Given the description of an element on the screen output the (x, y) to click on. 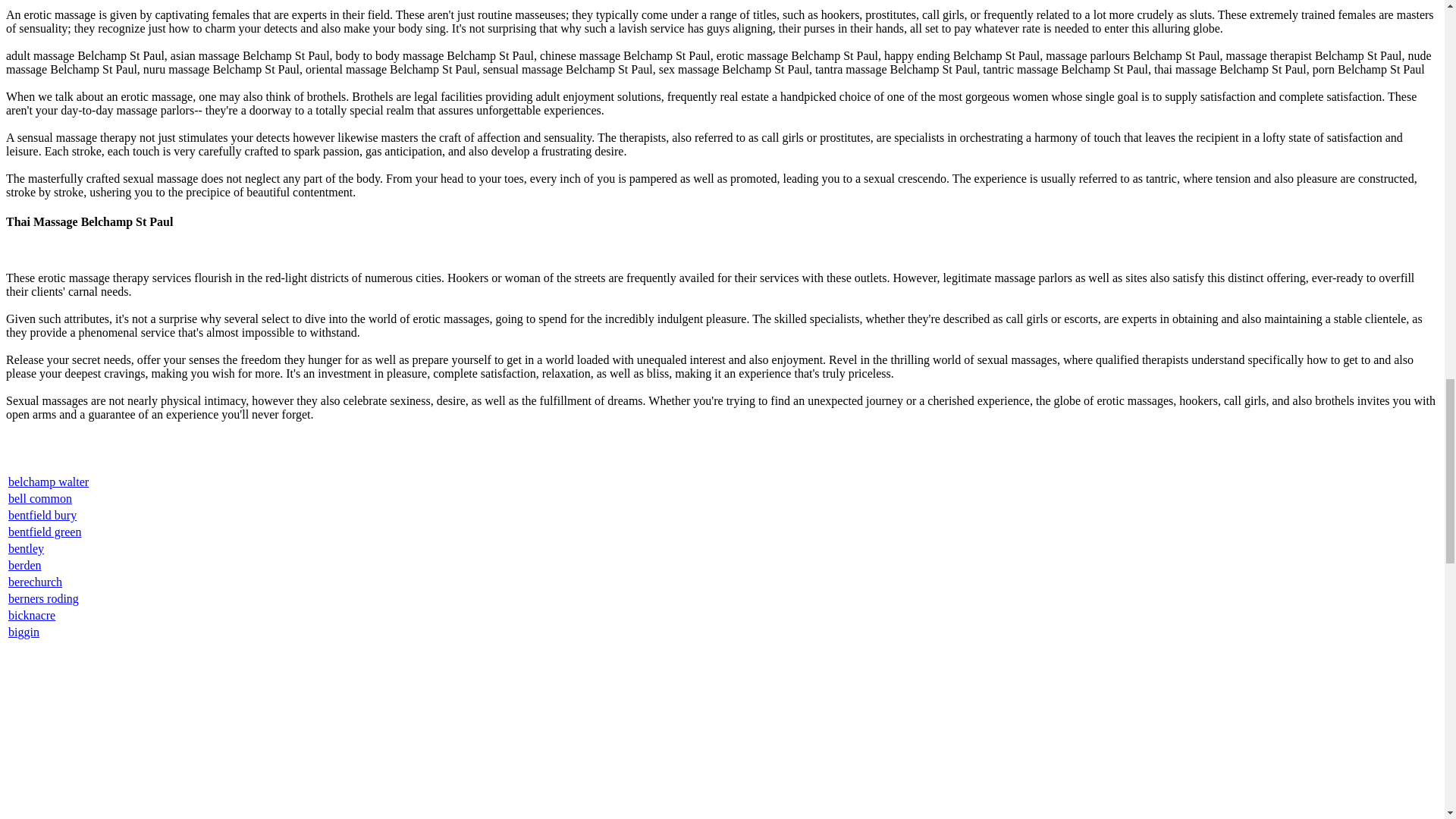
belchamp walter (48, 481)
bentley (25, 548)
berechurch (35, 581)
biggin (23, 631)
bentfield green (44, 531)
berners roding (43, 598)
bicknacre (31, 615)
berden (25, 564)
bell common (39, 498)
bentfield bury (42, 514)
